Given the description of an element on the screen output the (x, y) to click on. 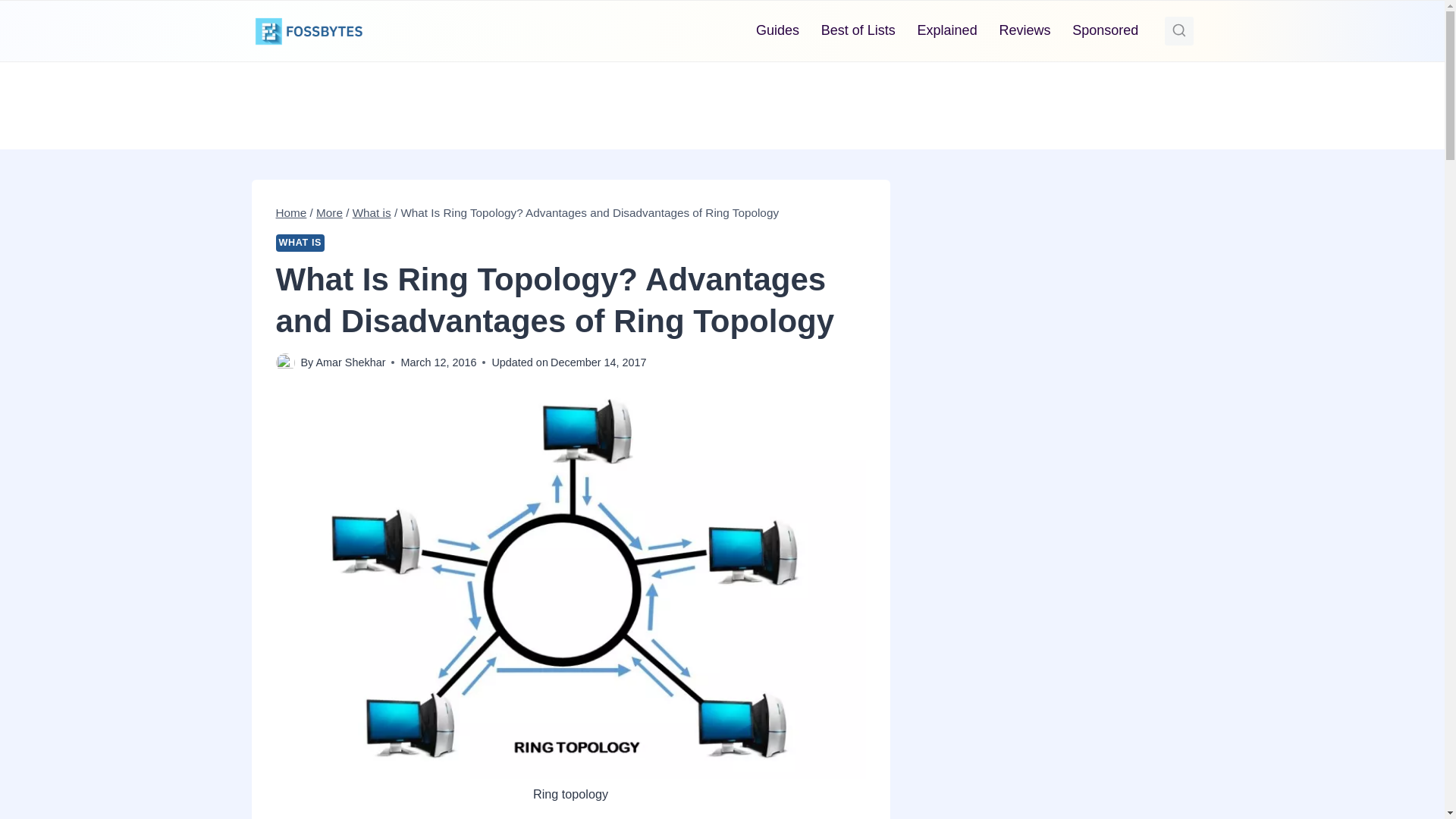
Best of Lists (857, 30)
Amar Shekhar (350, 362)
Explained (946, 30)
WHAT IS (300, 242)
Advertisement (721, 101)
More (328, 212)
Home (291, 212)
Guides (777, 30)
What is (371, 212)
Reviews (1024, 30)
